Given the description of an element on the screen output the (x, y) to click on. 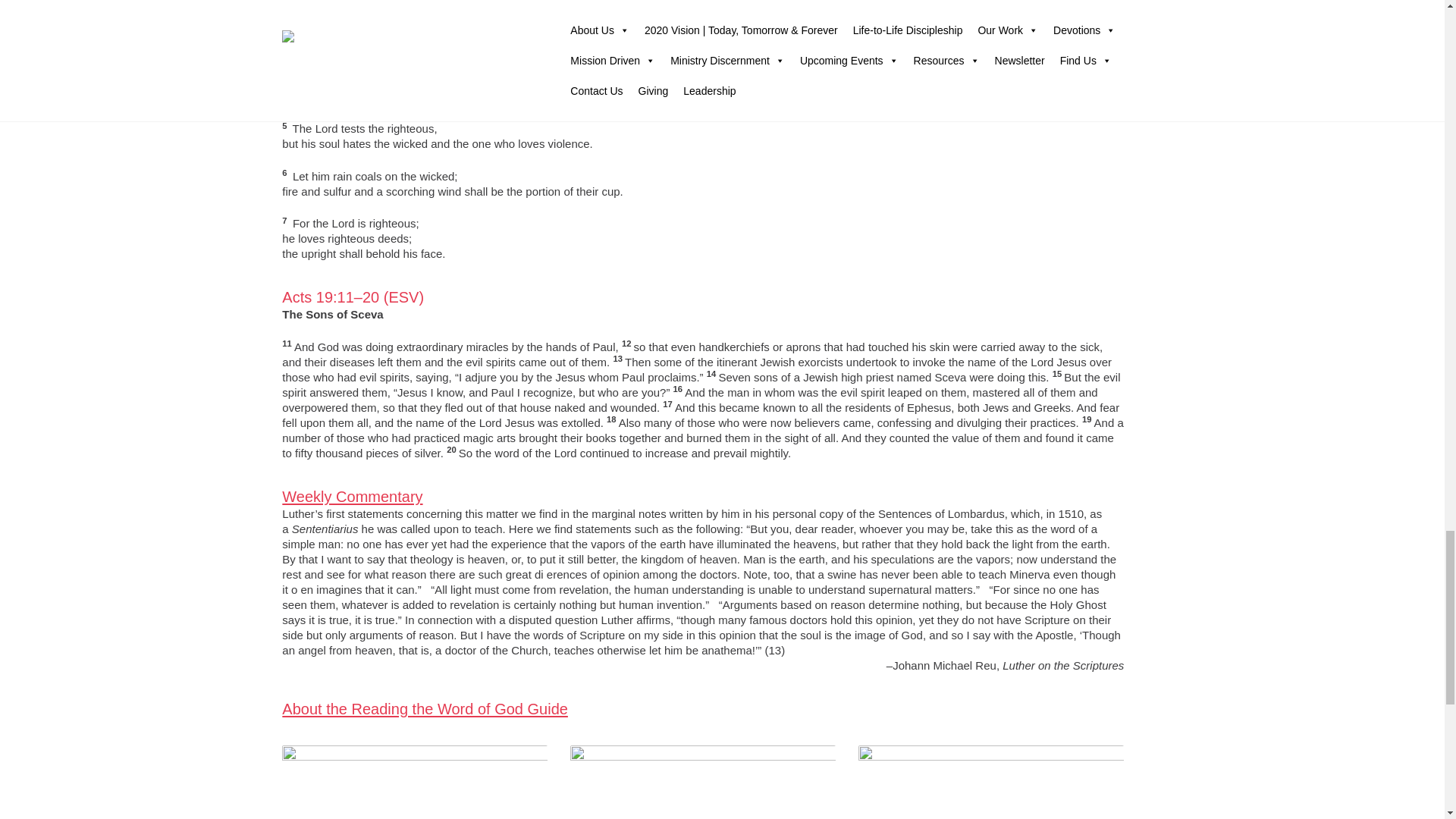
Page 13 (703, 582)
Lutheran Church - Canada (702, 778)
NALC-logo (414, 782)
lcms-logo (991, 782)
